Given the description of an element on the screen output the (x, y) to click on. 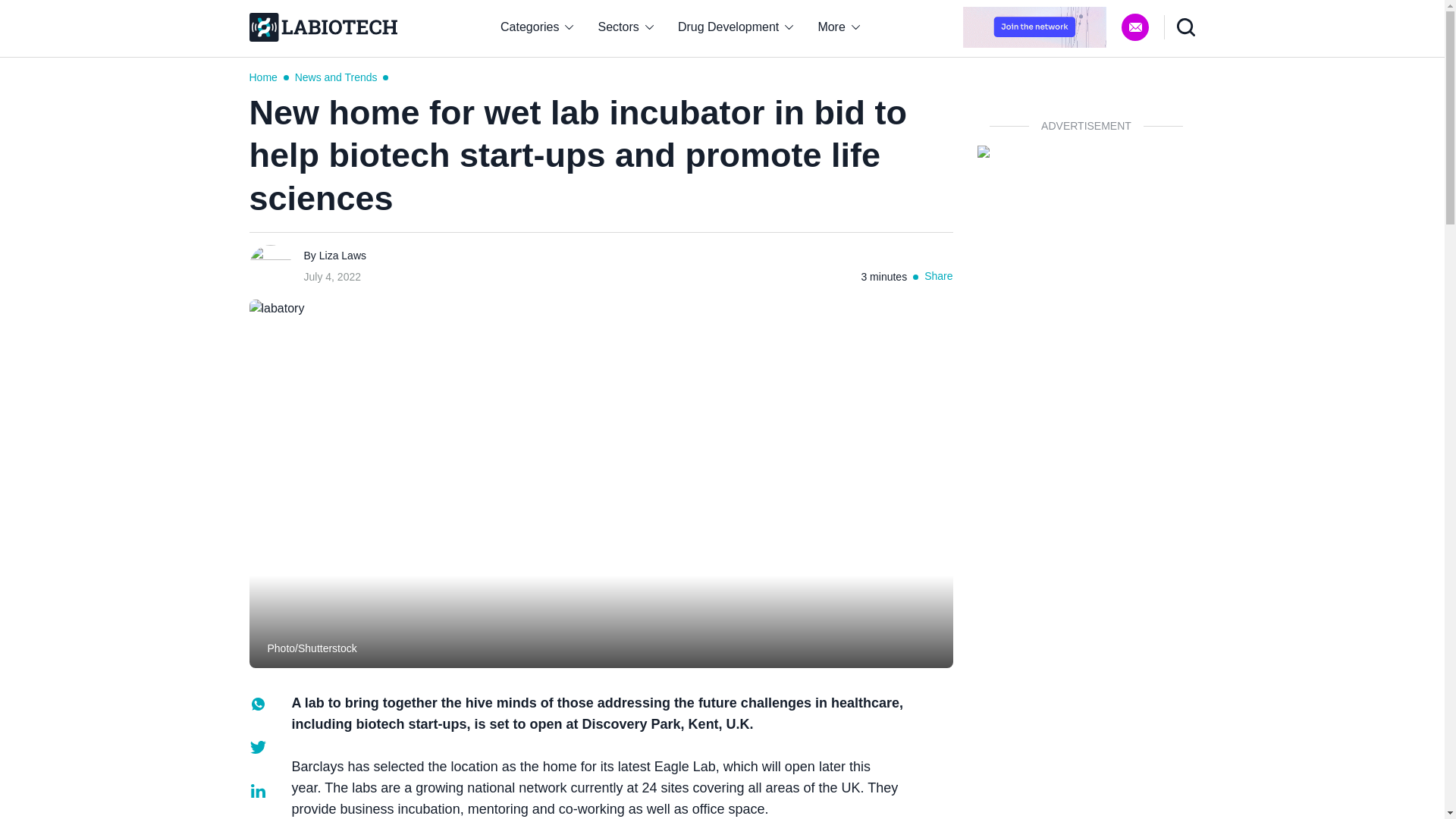
Sectors (625, 27)
Labiotech.eu (322, 27)
Categories (536, 27)
Drug Development (735, 27)
